Given the description of an element on the screen output the (x, y) to click on. 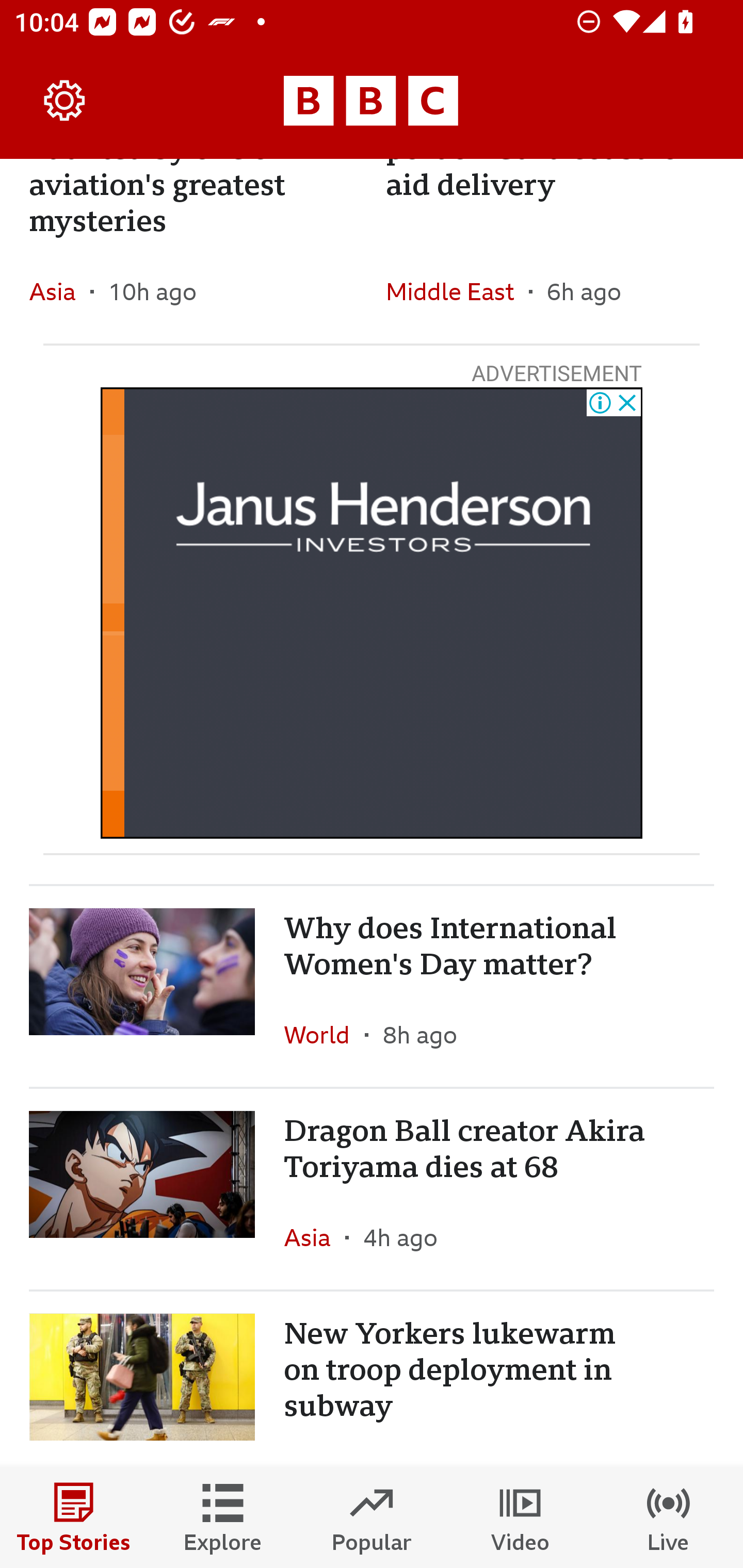
Settings (64, 100)
Asia In the section Asia (59, 291)
Middle East In the section Middle East (457, 291)
Janus Henderson Investors (371, 612)
World In the section World (323, 1034)
Asia In the section Asia (314, 1236)
Explore (222, 1517)
Popular (371, 1517)
Video (519, 1517)
Live (668, 1517)
